Given the description of an element on the screen output the (x, y) to click on. 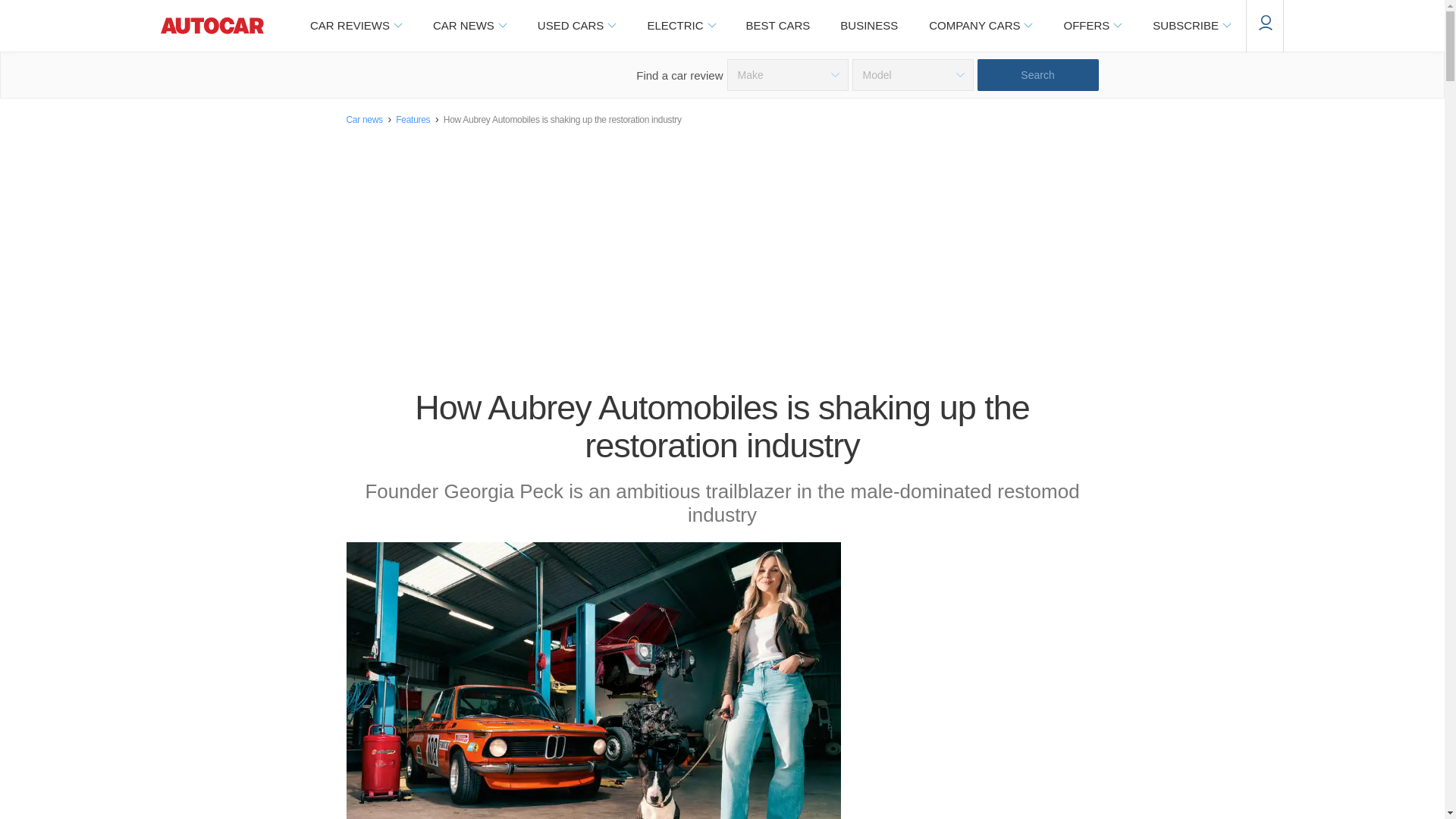
Search (1036, 74)
Top 10 cars by segment (777, 26)
SUBSCRIBE (1191, 26)
Autocar Electric (680, 26)
Home (211, 25)
Search (1036, 74)
ELECTRIC (680, 26)
CAR NEWS (468, 26)
COMPANY CARS (979, 26)
OFFERS (1091, 26)
BUSINESS (868, 26)
Autocar Business news, insight and opinion (868, 26)
CAR REVIEWS (355, 26)
BEST CARS (777, 26)
USED CARS (576, 26)
